Given the description of an element on the screen output the (x, y) to click on. 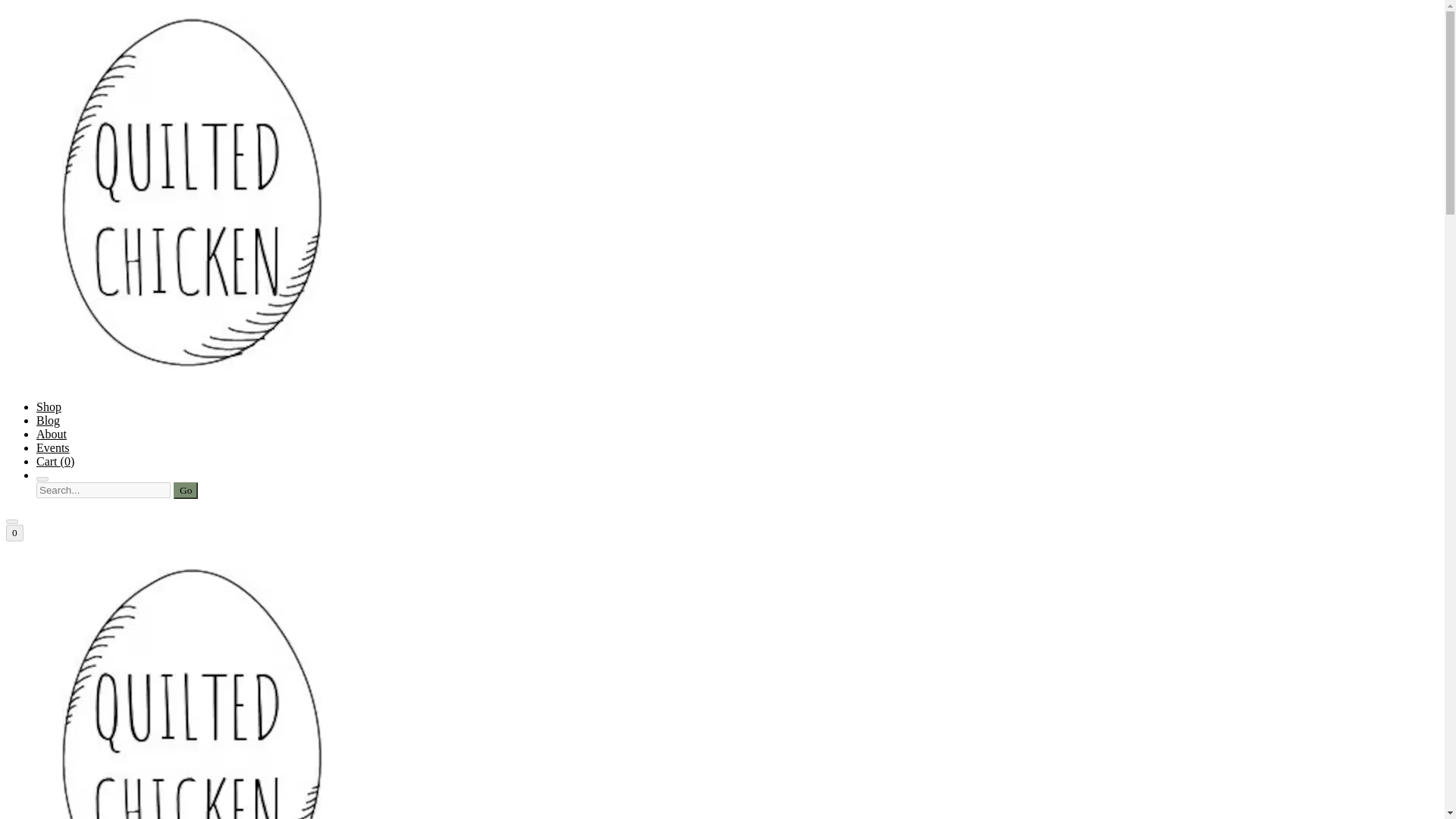
Go (185, 490)
0 (14, 532)
Events (52, 447)
Go (185, 490)
Blog (47, 420)
Shop (48, 406)
About (51, 433)
